Given the description of an element on the screen output the (x, y) to click on. 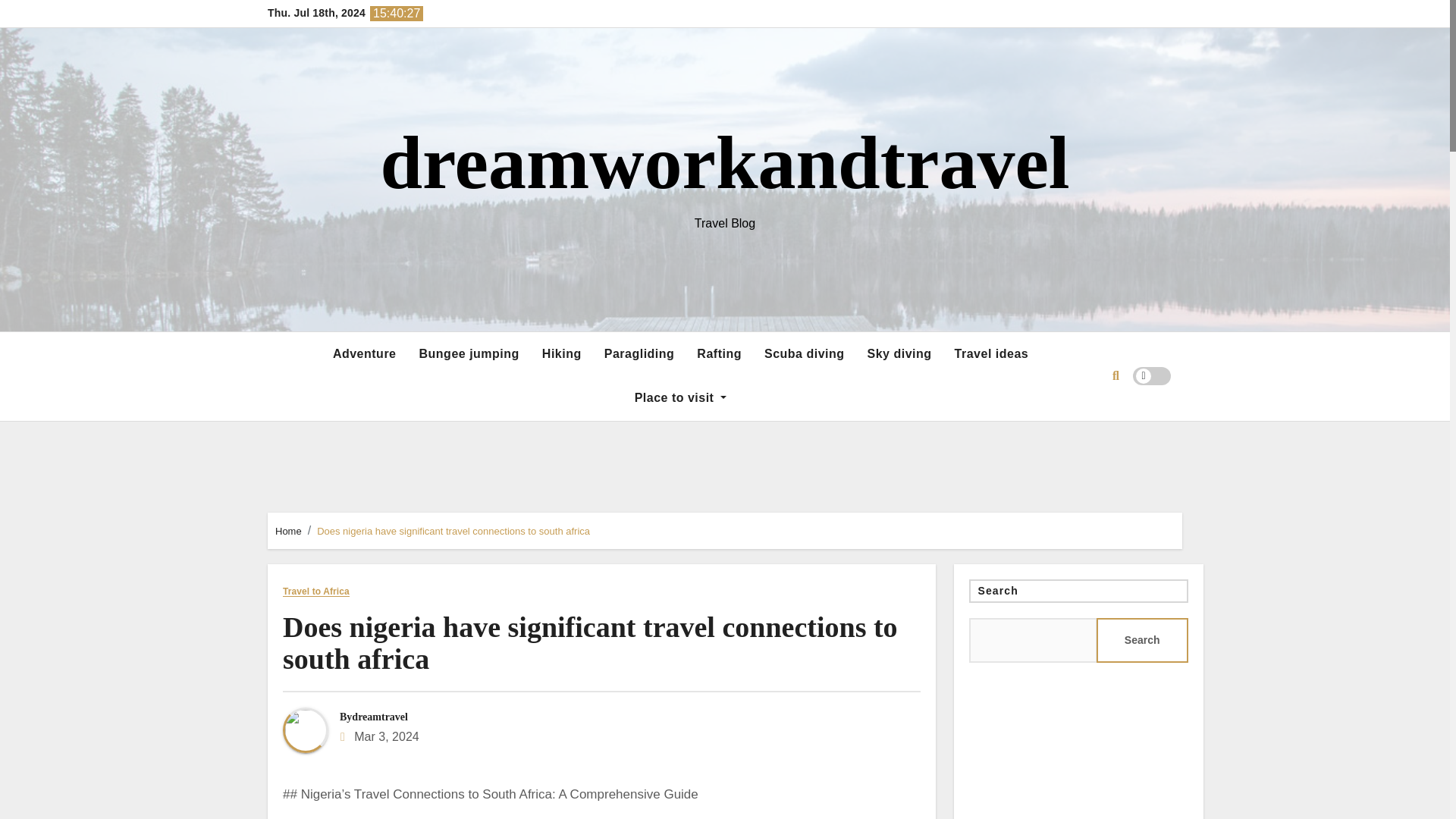
Home (288, 531)
Bungee jumping (469, 353)
Bungee jumping (469, 353)
Travel ideas (992, 353)
Paragliding (638, 353)
Place to visit (680, 397)
dreamworkandtravel (724, 162)
Place to visit (680, 397)
Rafting (718, 353)
dreamtravel (379, 716)
Adventure (364, 353)
Rafting (718, 353)
Sky diving (899, 353)
Travel to Africa (315, 592)
